Given the description of an element on the screen output the (x, y) to click on. 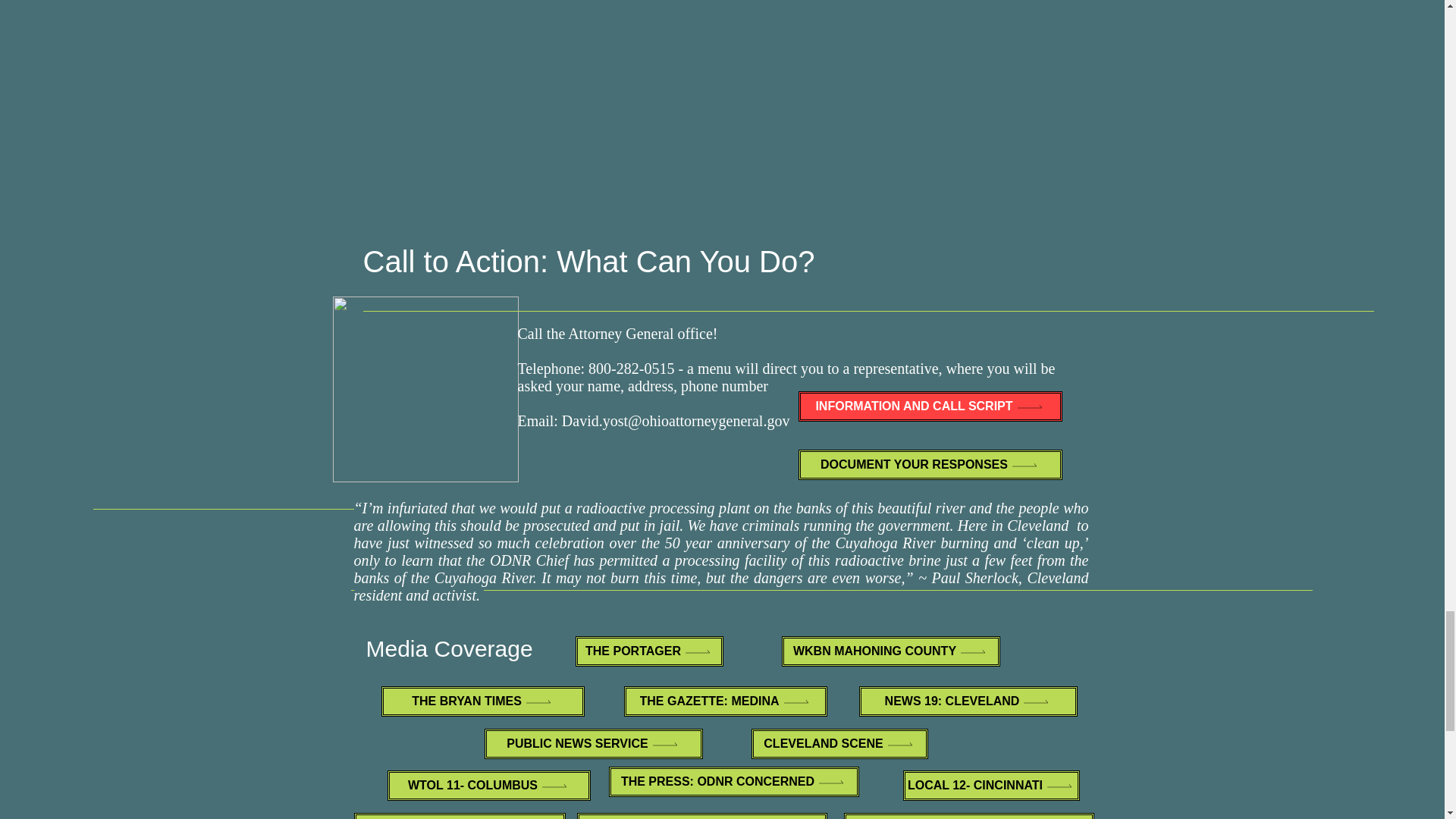
Megaphone (424, 389)
